Given the description of an element on the screen output the (x, y) to click on. 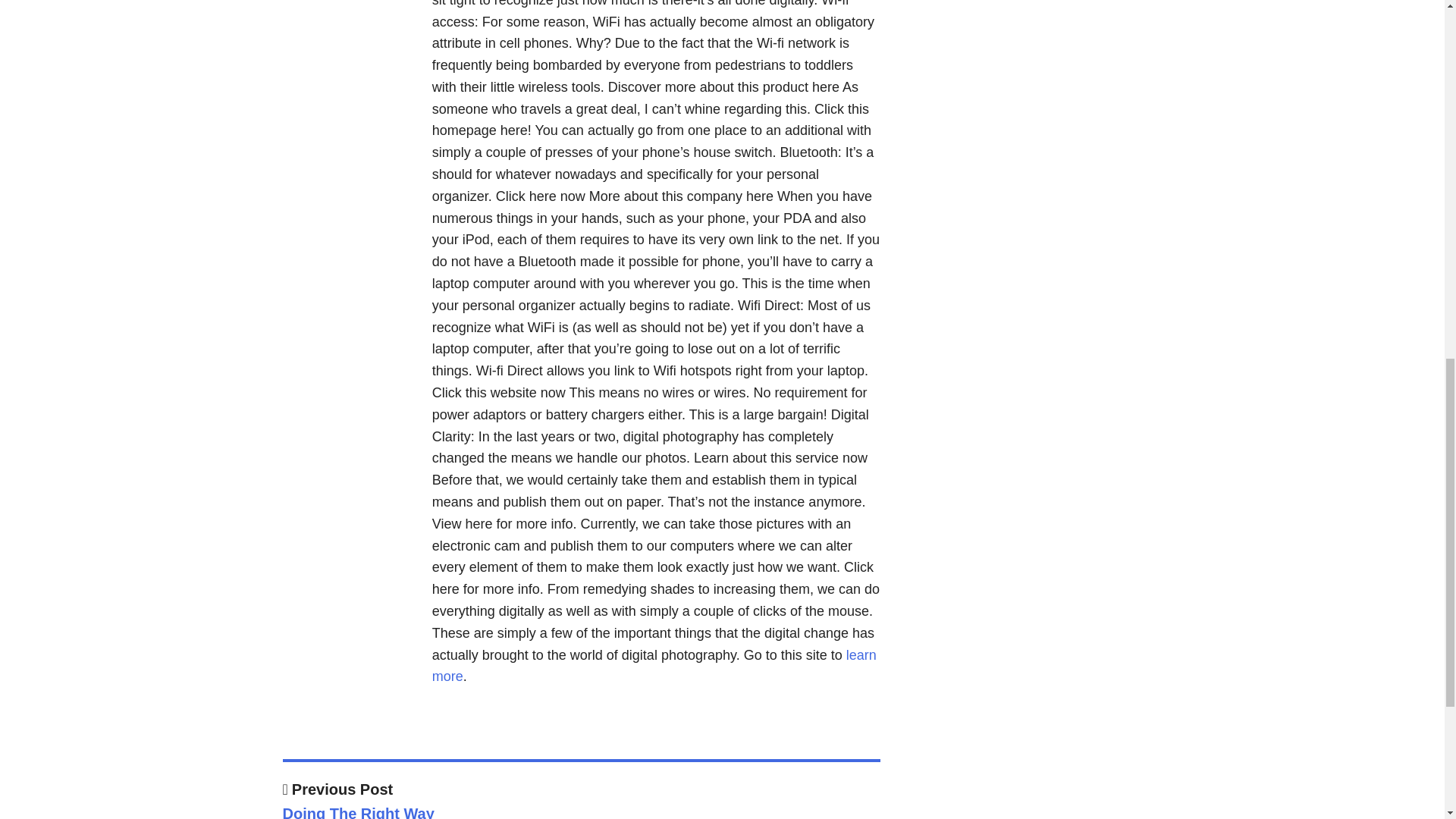
learn more (654, 665)
